Given the description of an element on the screen output the (x, y) to click on. 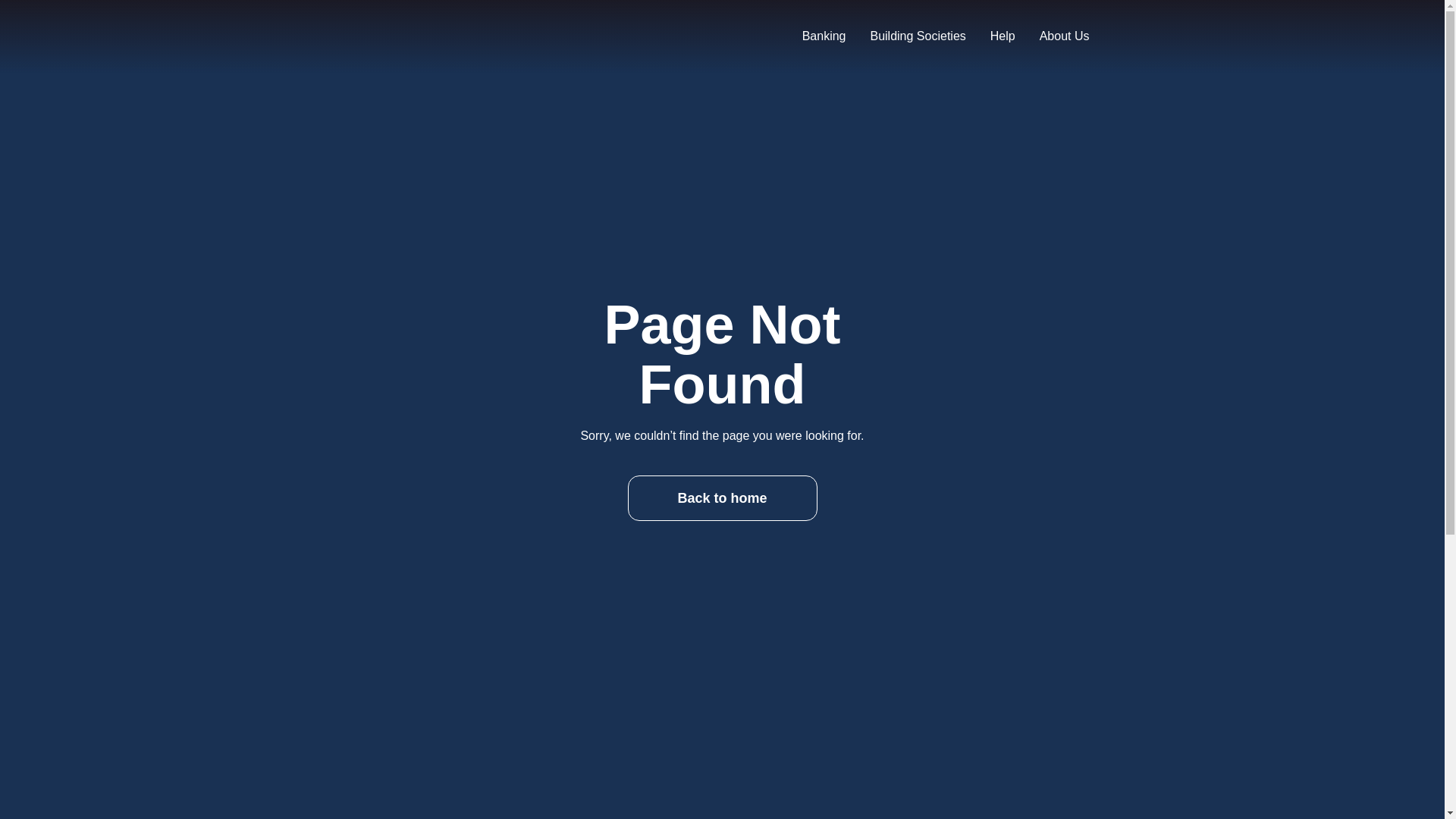
About Us (1064, 35)
Help (1002, 35)
Banking (823, 35)
OneBanx (529, 36)
Building Societies (917, 35)
